Given the description of an element on the screen output the (x, y) to click on. 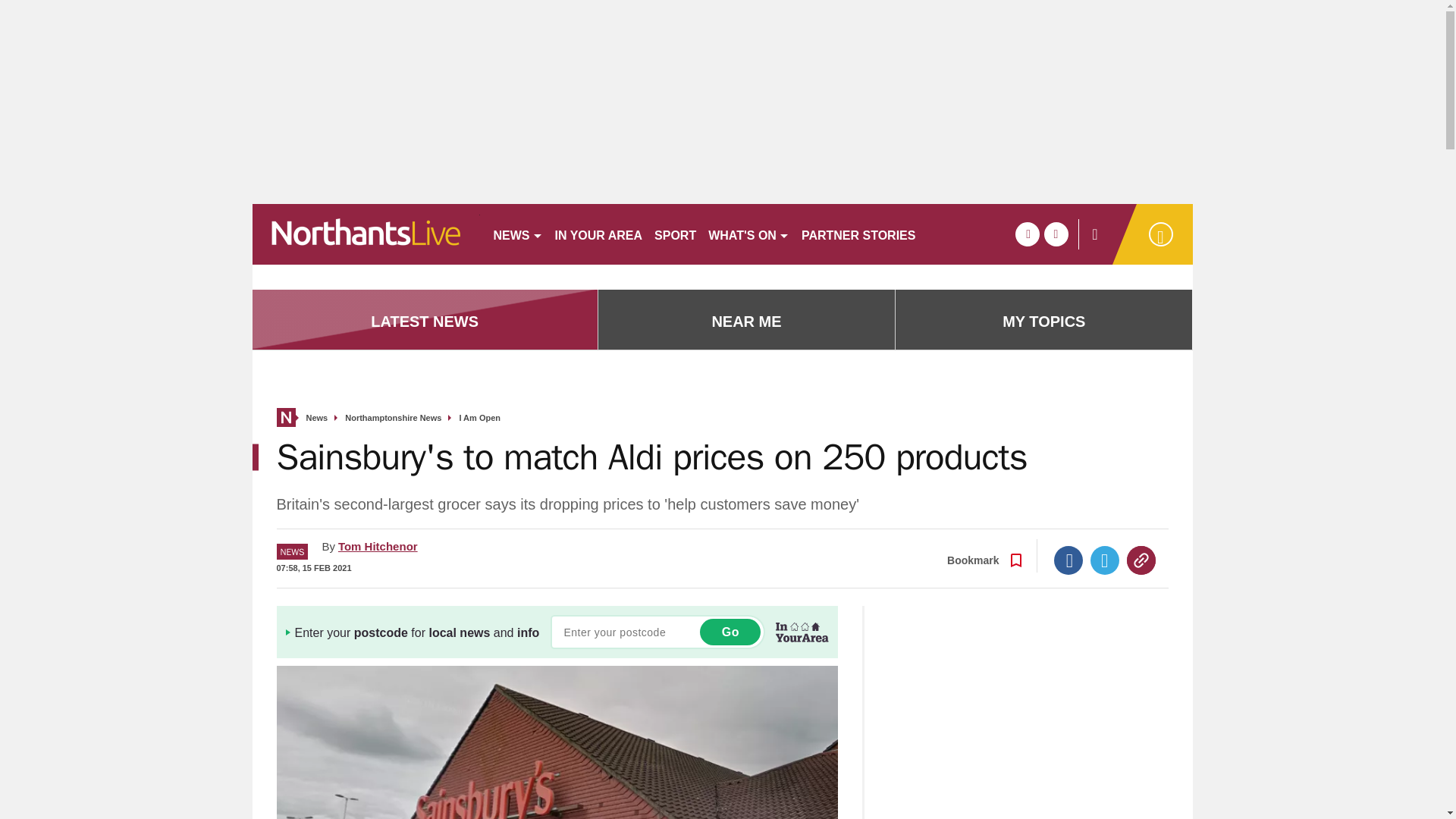
Home (285, 416)
News (317, 418)
I Am Open (479, 418)
northantslive (365, 233)
MY TOPICS (1043, 320)
facebook (1026, 233)
Twitter (1104, 560)
PARTNER STORIES (857, 233)
Go (730, 632)
NEAR ME (746, 320)
